Given the description of an element on the screen output the (x, y) to click on. 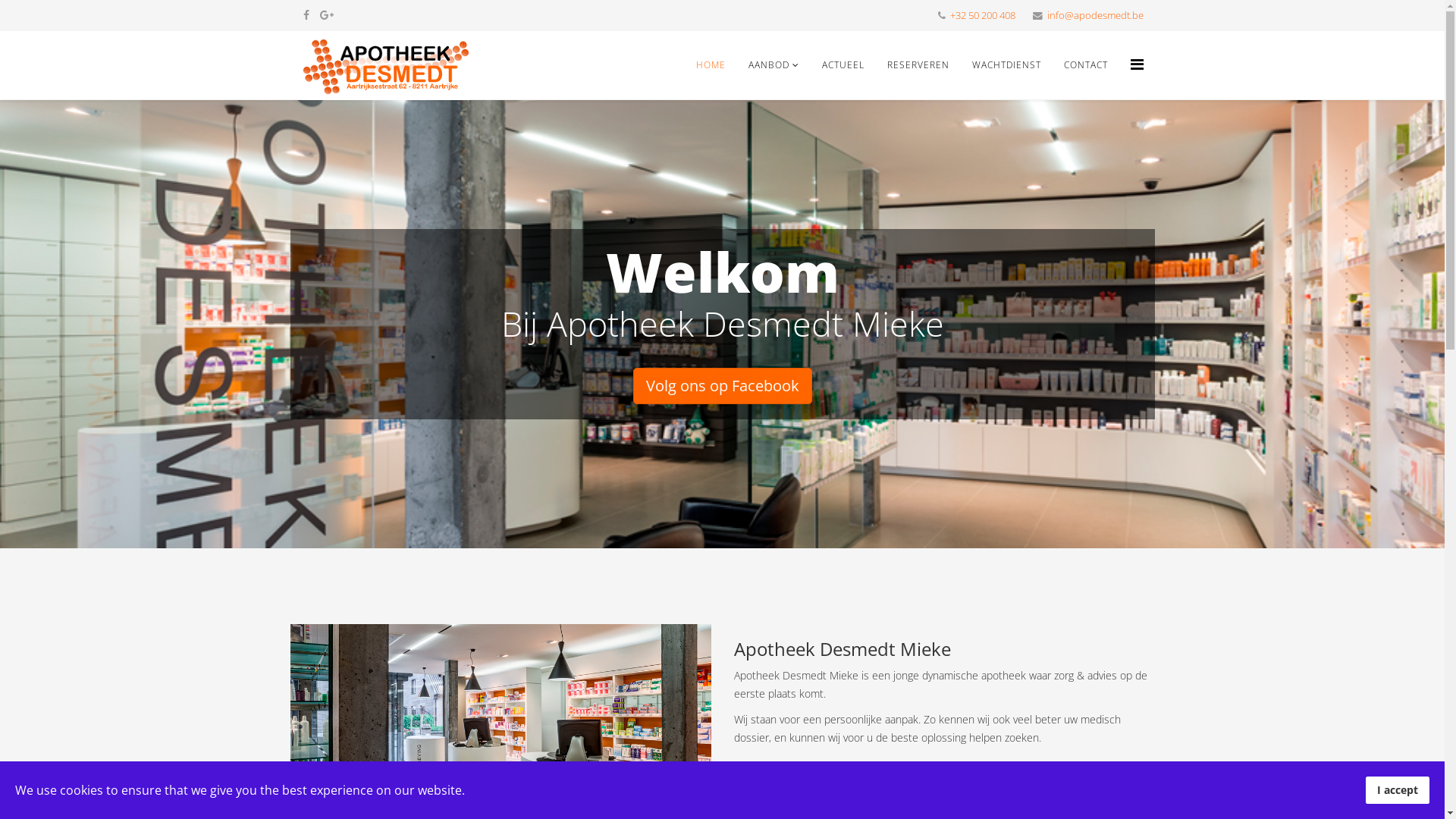
+32 50 200 408 Element type: text (981, 15)
I accept Element type: text (1397, 789)
Volg ons op Facebook Element type: text (721, 385)
info@apodesmedt.be Element type: text (1094, 15)
WACHTDIENST Element type: text (1005, 65)
RESERVEREN Element type: text (917, 65)
AANBOD Element type: text (773, 65)
Helix3 Megamenu Options Element type: hover (1135, 64)
CONTACT Element type: text (1085, 65)
HOME Element type: text (710, 65)
ACTUEEL Element type: text (842, 65)
